Given the description of an element on the screen output the (x, y) to click on. 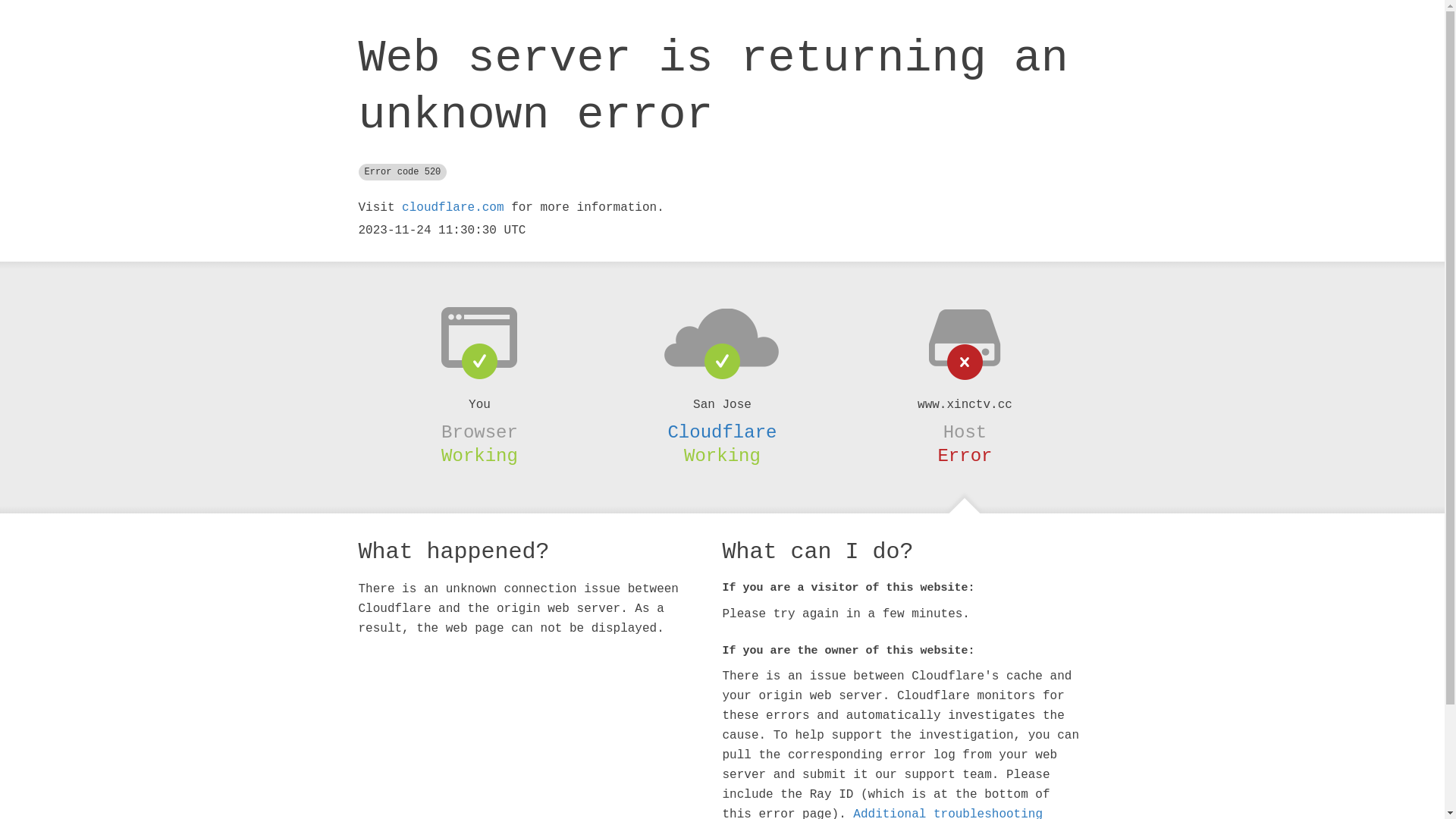
cloudflare.com Element type: text (452, 207)
Cloudflare Element type: text (721, 432)
